Given the description of an element on the screen output the (x, y) to click on. 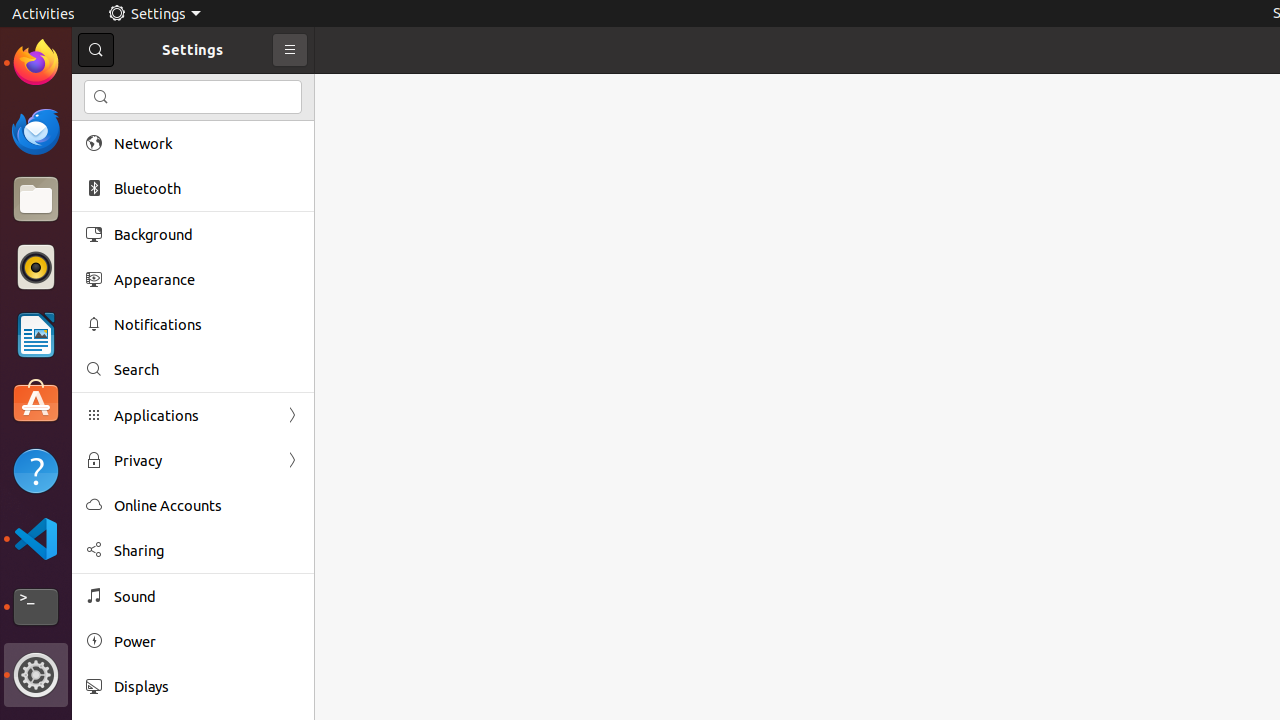
Online Accounts Element type: label (207, 505)
Appearance Element type: label (207, 279)
Search Element type: text (193, 97)
Firefox Web Browser Element type: push-button (36, 63)
